Given the description of an element on the screen output the (x, y) to click on. 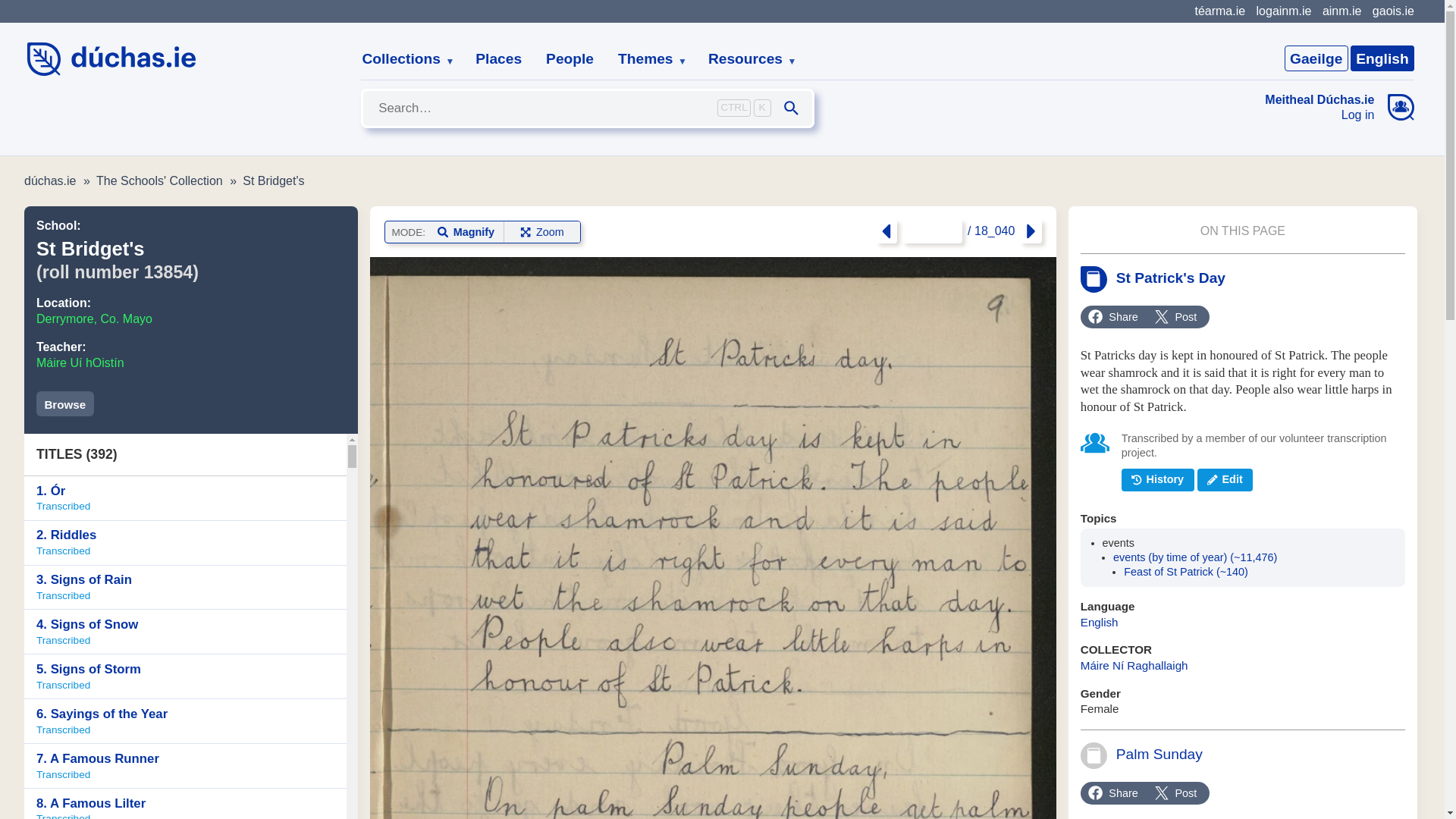
Derrymore, Co. Mayo (185, 542)
Resources (94, 318)
gaois.ie (745, 59)
Places (1393, 11)
English (498, 58)
People (1382, 58)
Gaeilge (569, 58)
St Bridget's (1316, 58)
logainm.ie (273, 180)
Log in (1283, 11)
Browse (1319, 114)
Collections (65, 403)
ainm.ie (401, 59)
Themes (1341, 11)
